Given the description of an element on the screen output the (x, y) to click on. 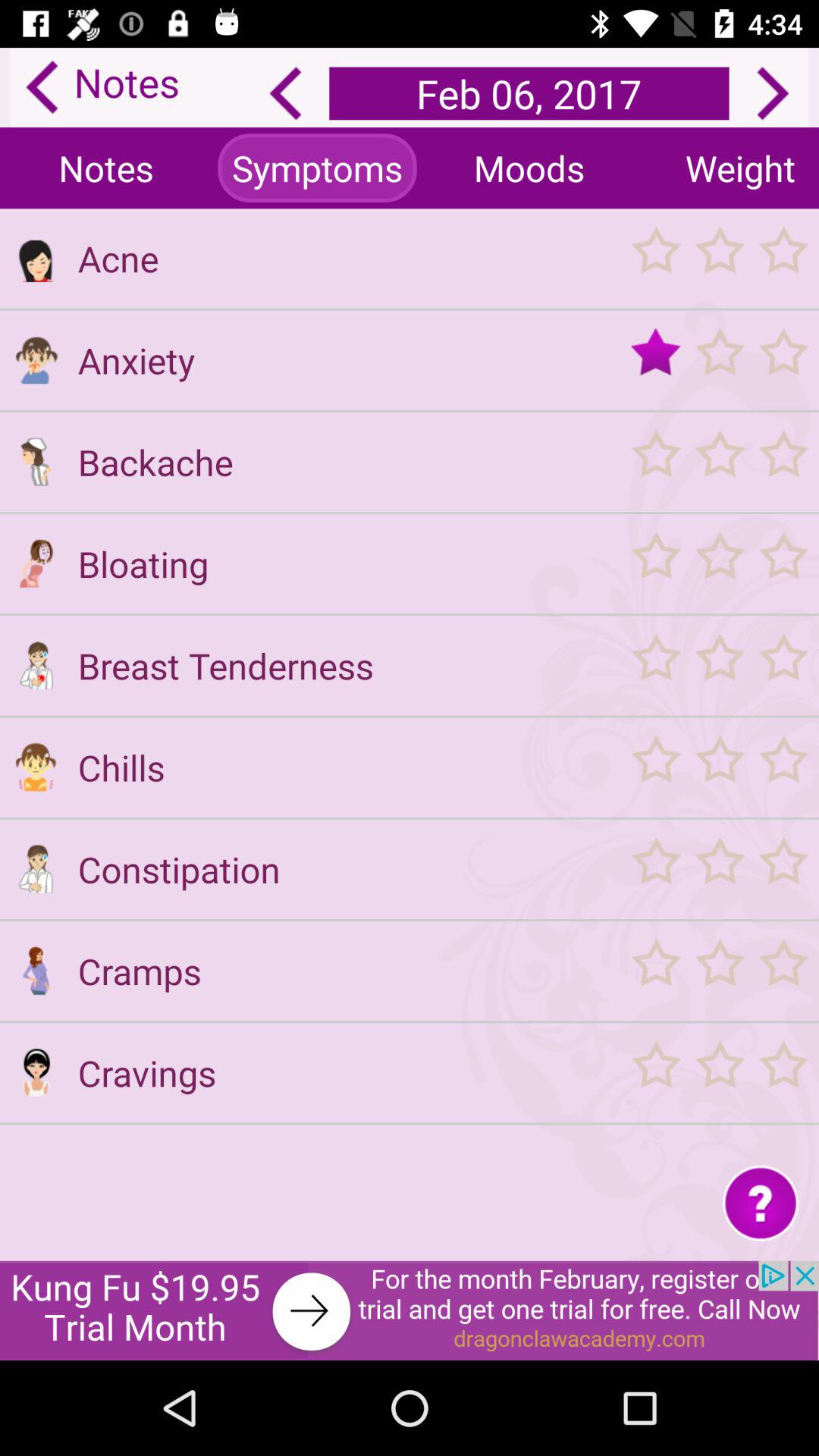
set breast tenderness level (719, 665)
